Given the description of an element on the screen output the (x, y) to click on. 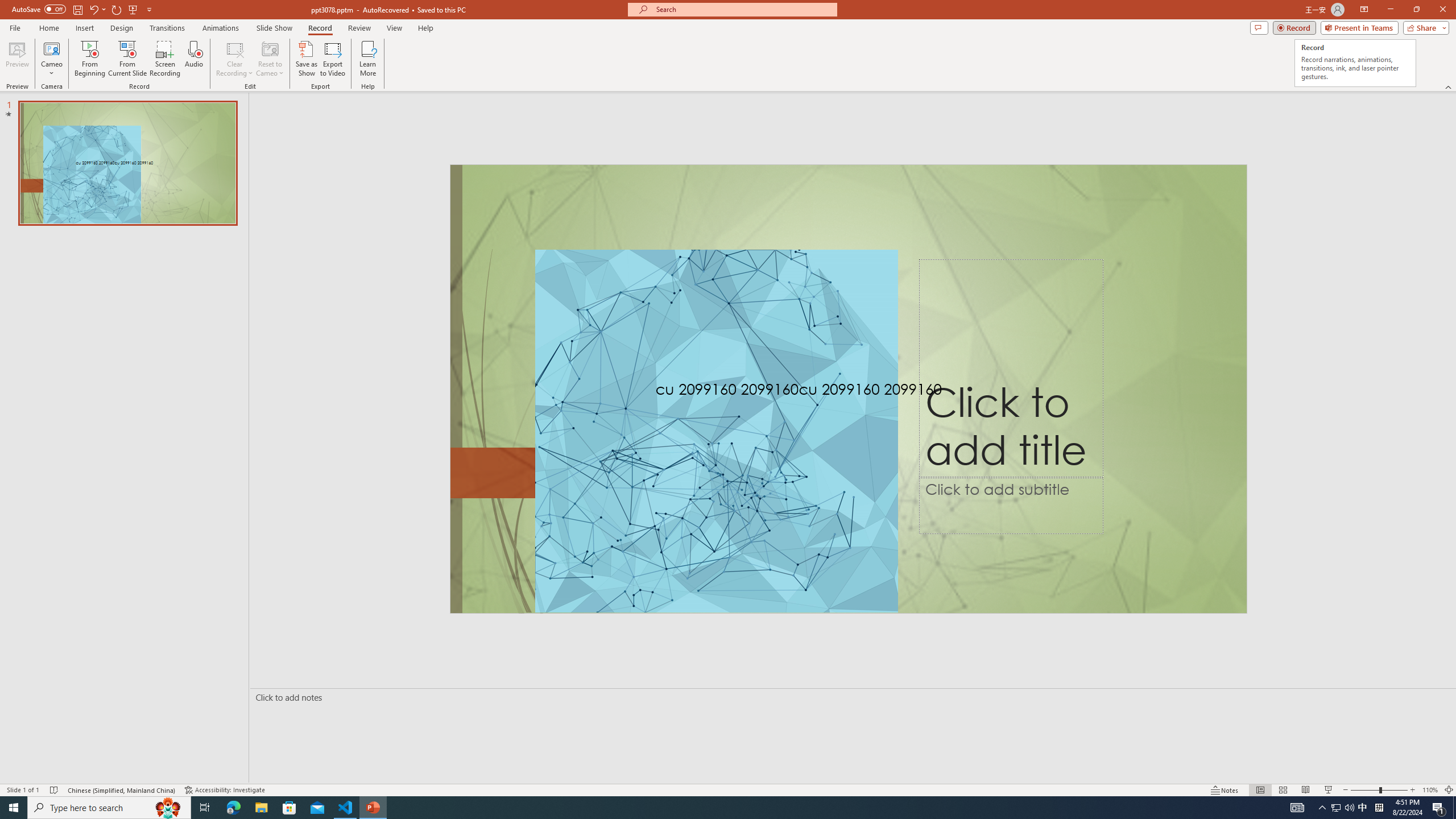
Zoom 110% (1430, 790)
